Given the description of an element on the screen output the (x, y) to click on. 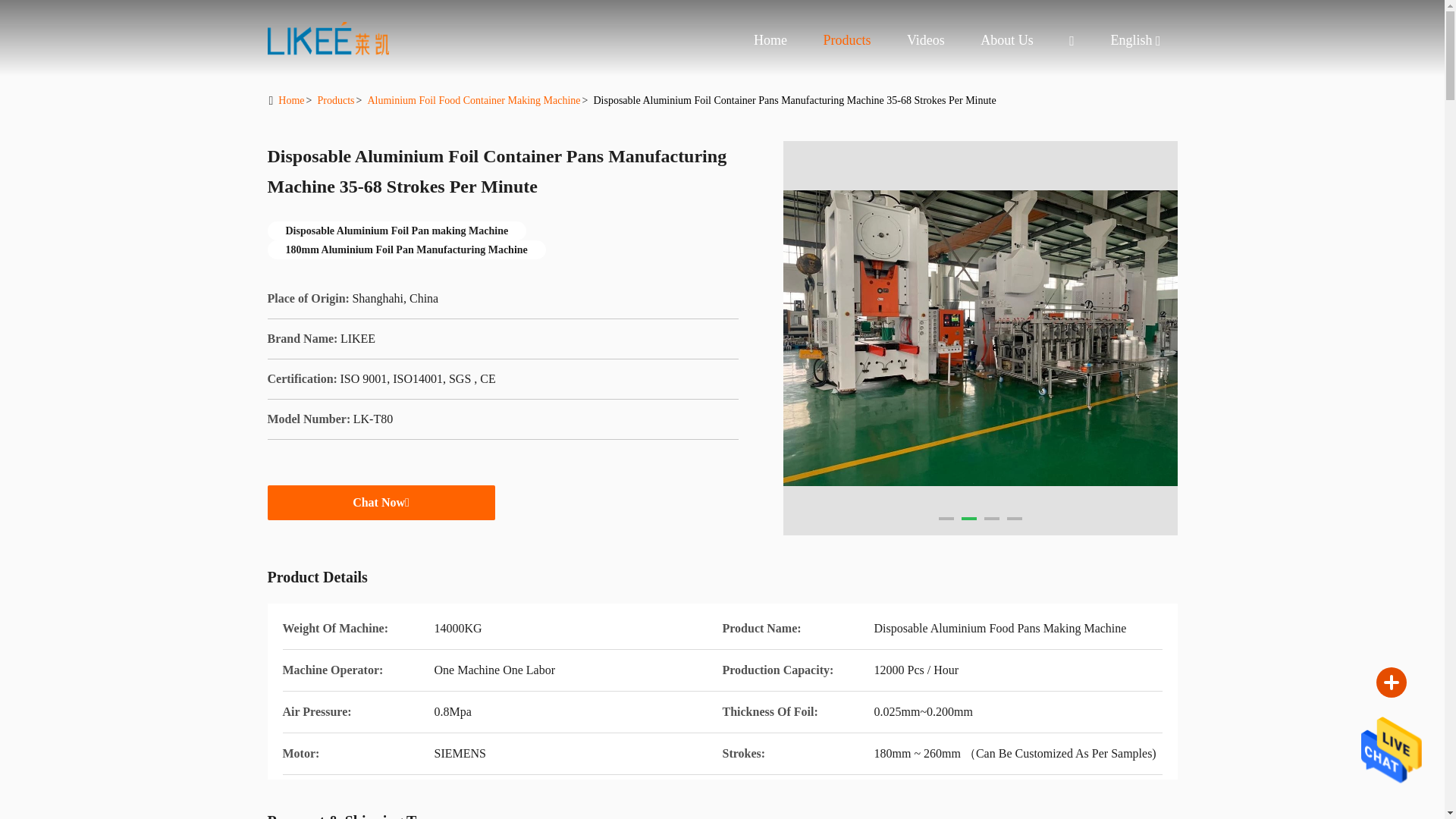
About Us (1130, 40)
About Us (1006, 40)
Products (846, 40)
Home (291, 100)
About Us (1006, 40)
Home (327, 37)
Products (335, 100)
Products (846, 40)
Aluminium Foil Food Container Making Machine (472, 100)
